Given the description of an element on the screen output the (x, y) to click on. 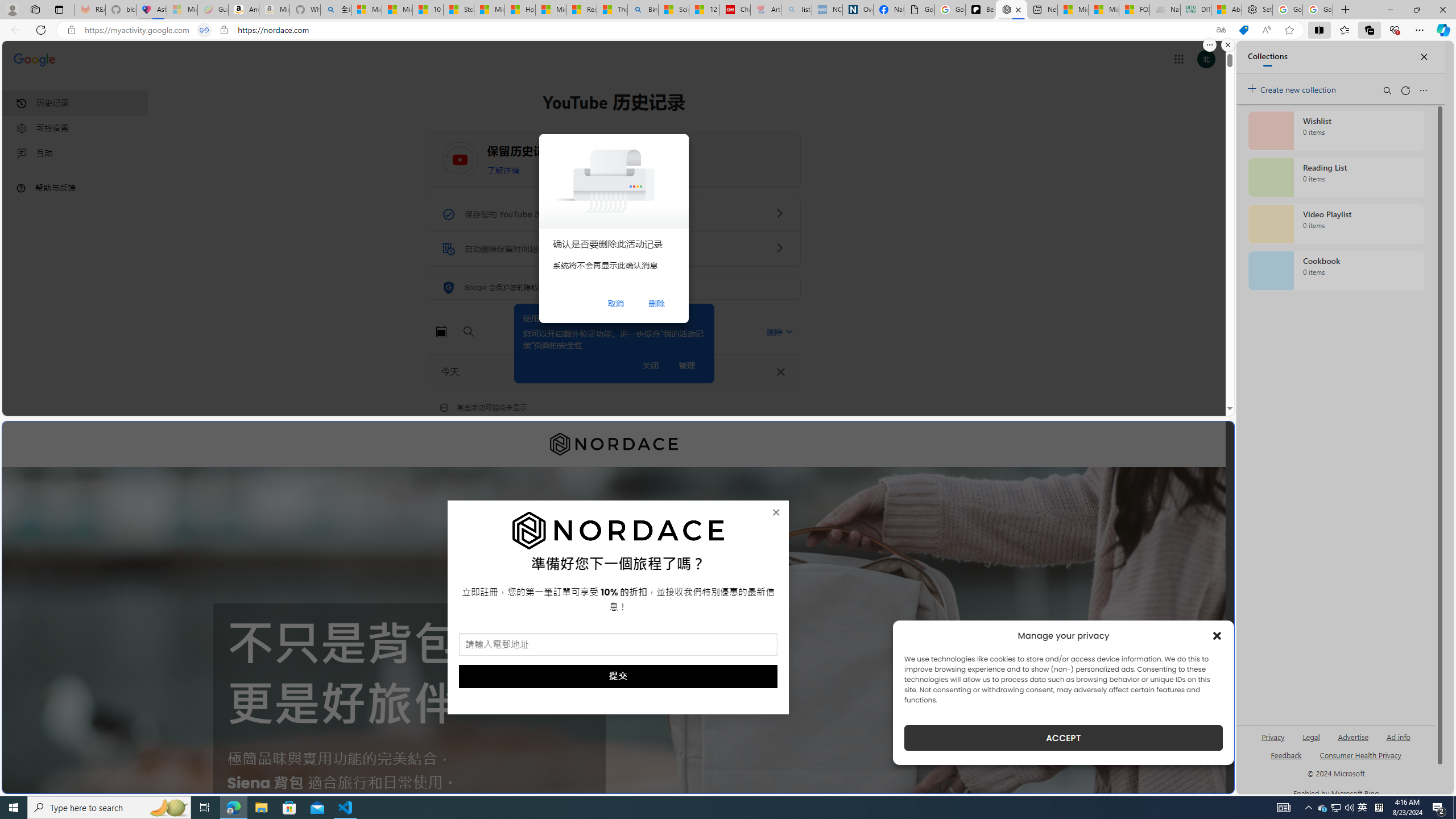
FOX News - MSN (1133, 9)
ACCEPT (1063, 737)
Be Smart | creating Science videos | Patreon (980, 9)
More options. (1209, 45)
